Given the description of an element on the screen output the (x, y) to click on. 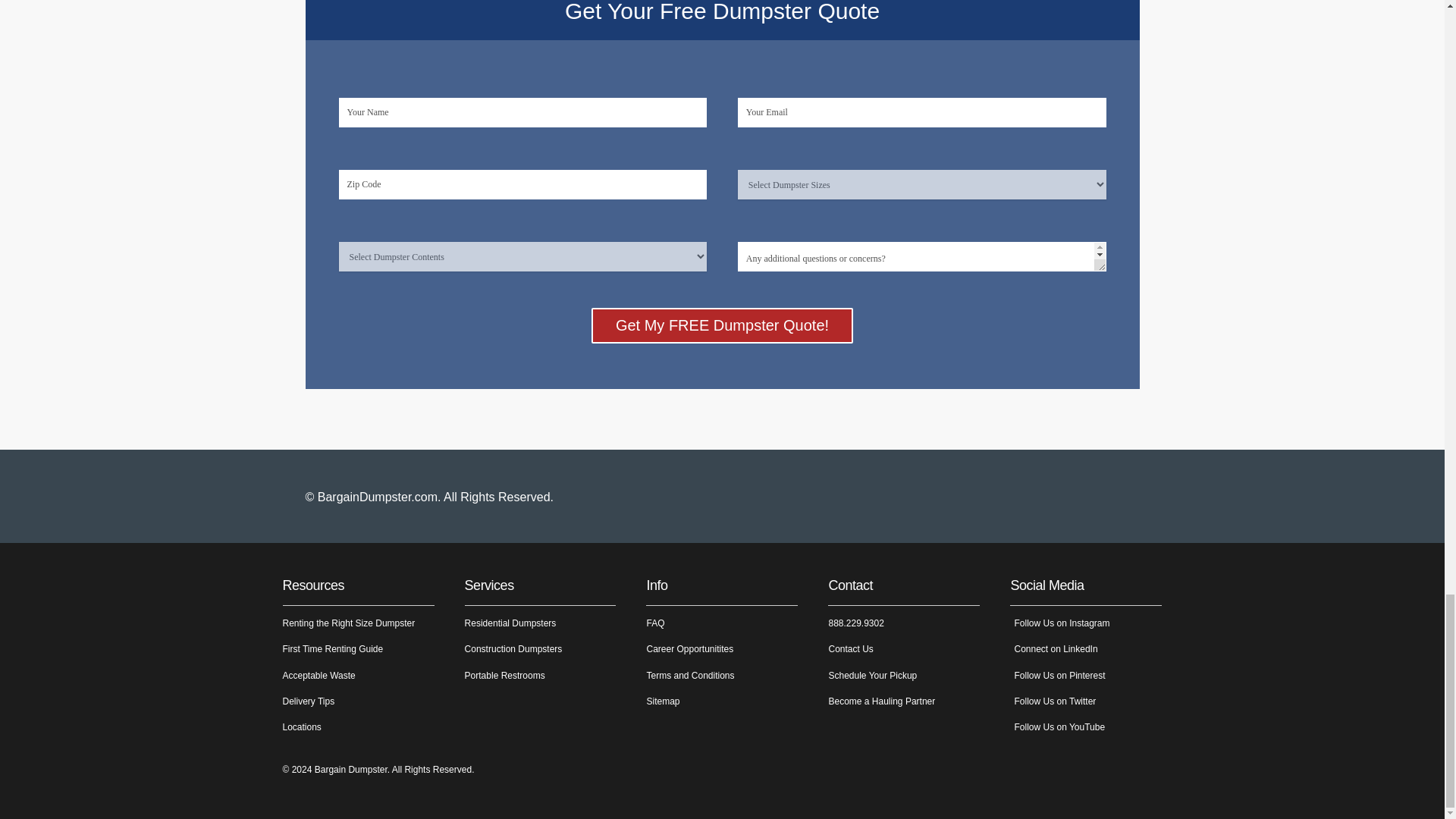
gwd.png (1081, 496)
Get My FREE Dumpster Quote! (722, 325)
